Given the description of an element on the screen output the (x, y) to click on. 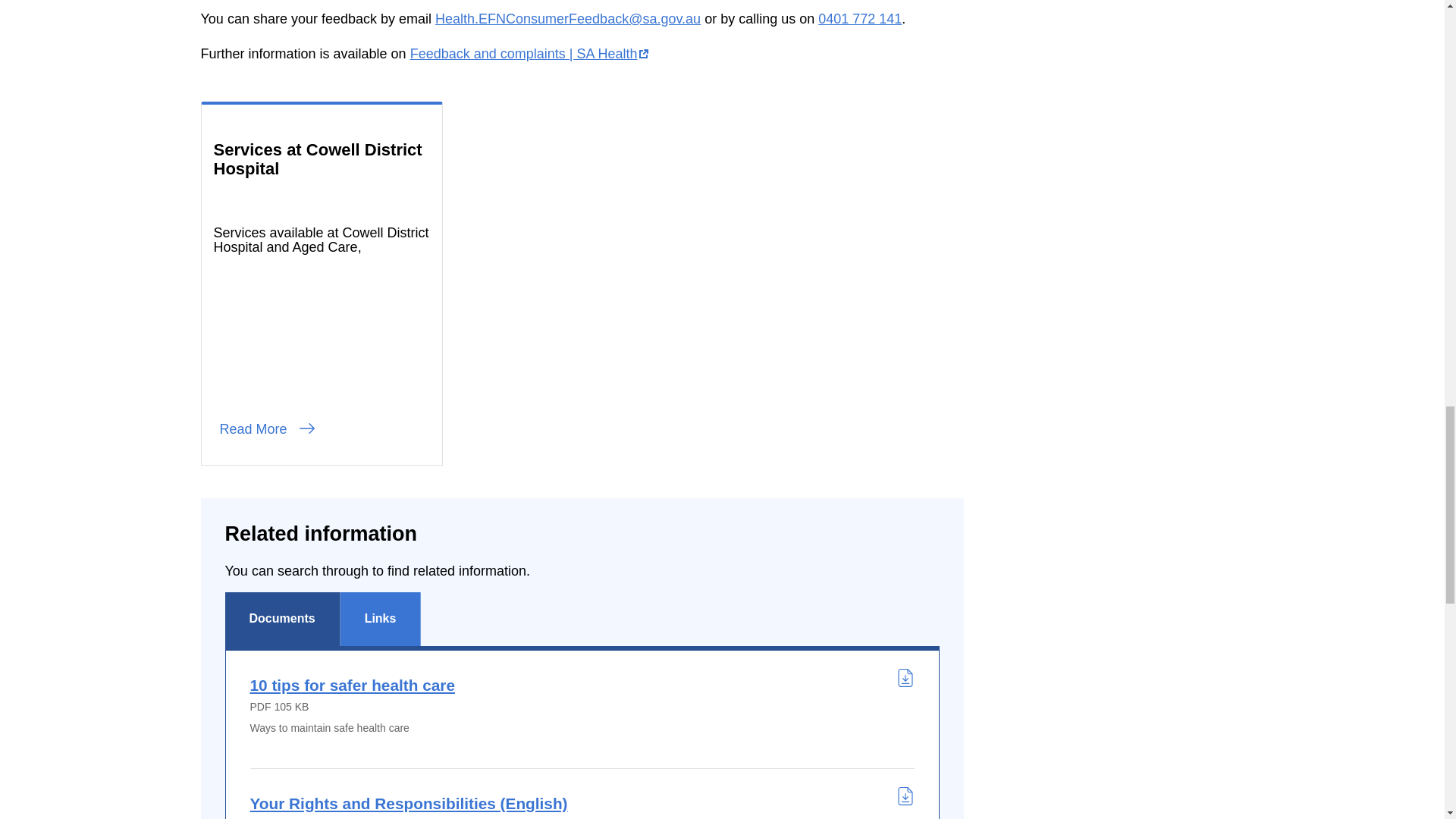
Link to external site. (529, 53)
